Given the description of an element on the screen output the (x, y) to click on. 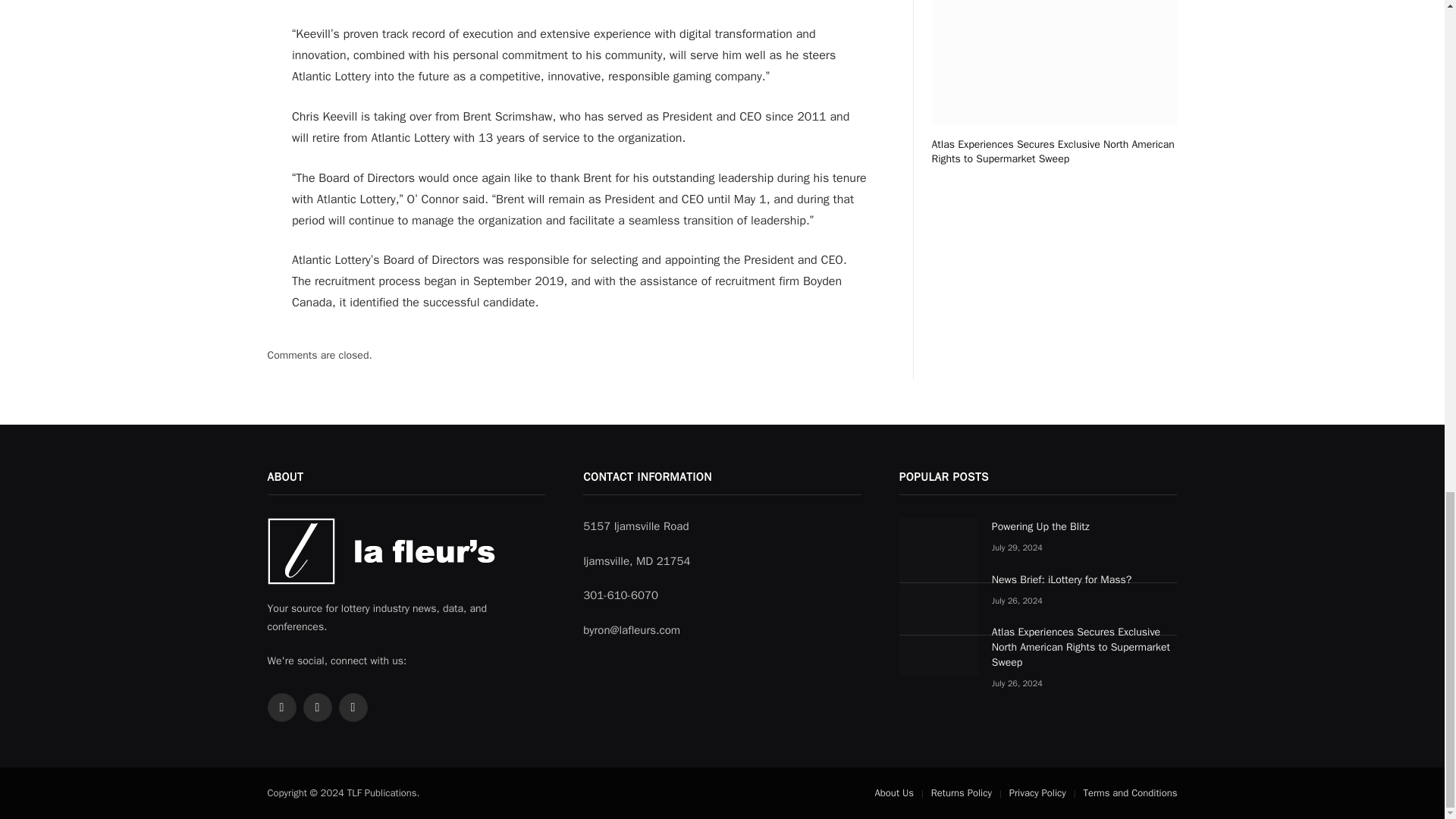
Twitter (280, 706)
RSS (316, 706)
Powering Up the Blitz (1084, 526)
LinkedIn (351, 706)
July 29, 2024 (1016, 547)
